Given the description of an element on the screen output the (x, y) to click on. 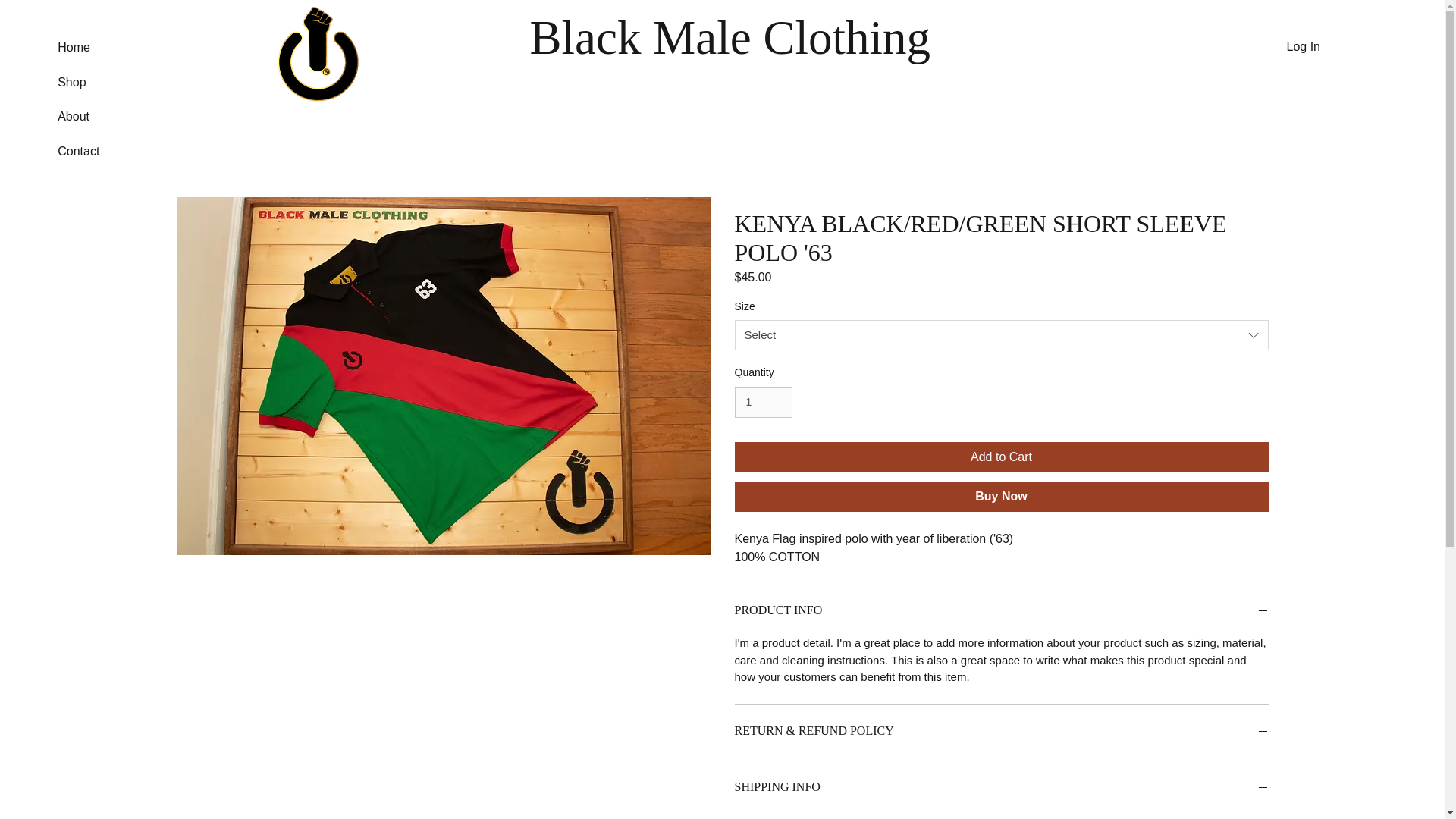
Contact (105, 151)
SHIPPING INFO (1000, 789)
Add to Cart (1000, 457)
Shop (105, 82)
Select (1000, 335)
Home (105, 47)
About (105, 116)
1 (762, 401)
Buy Now (1000, 496)
Black Male Clothing (729, 37)
Log In (1303, 46)
PRODUCT INFO (1000, 612)
